Given the description of an element on the screen output the (x, y) to click on. 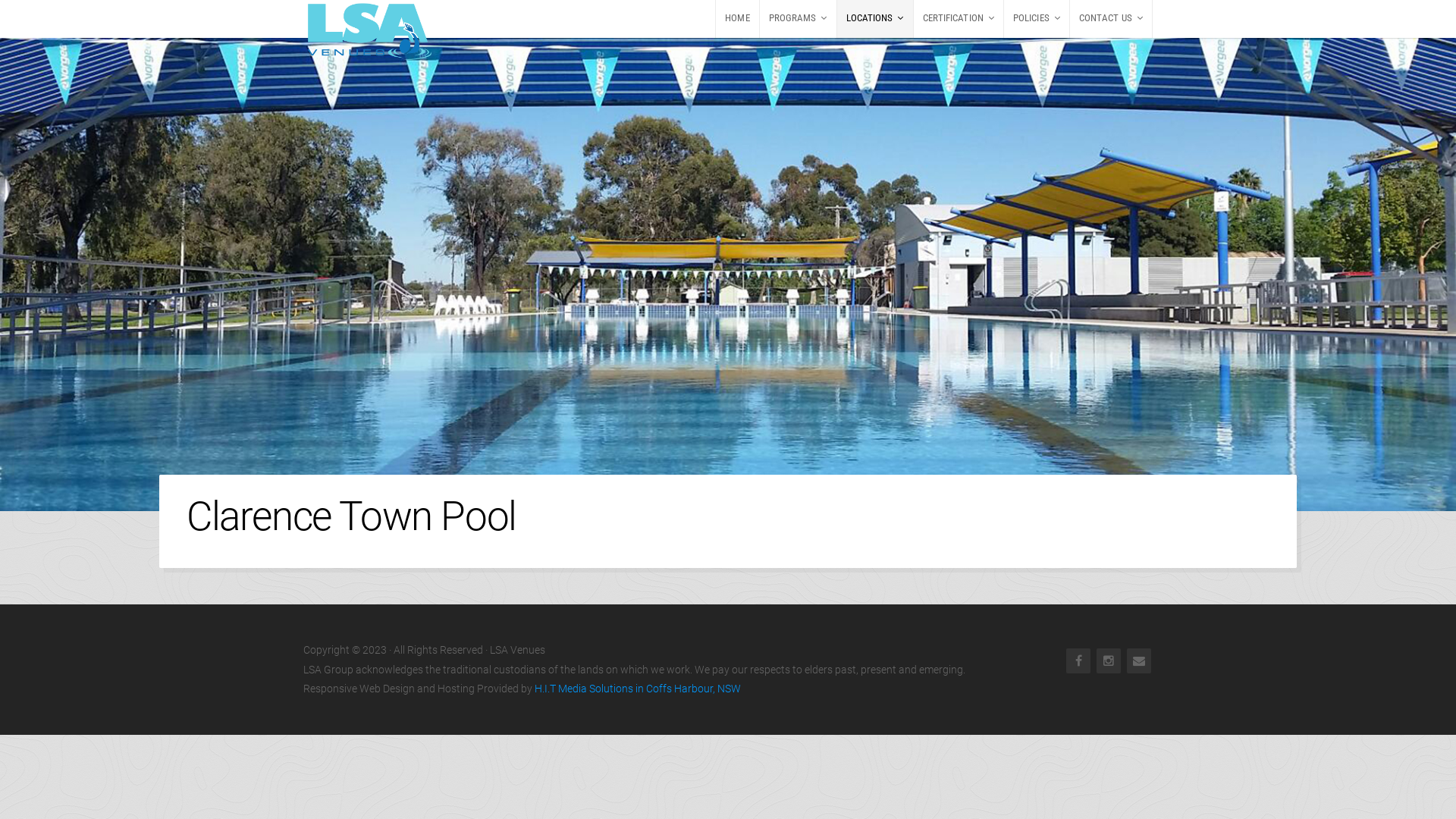
CERTIFICATION Element type: text (958, 18)
HOME Element type: text (736, 18)
LOCATIONS Element type: text (875, 18)
POLICIES Element type: text (1036, 18)
CONTACT US Element type: text (1110, 18)
PROGRAMS Element type: text (797, 18)
H.I.T Media Solutions in Coffs Harbour, NSW Element type: text (637, 688)
